Given the description of an element on the screen output the (x, y) to click on. 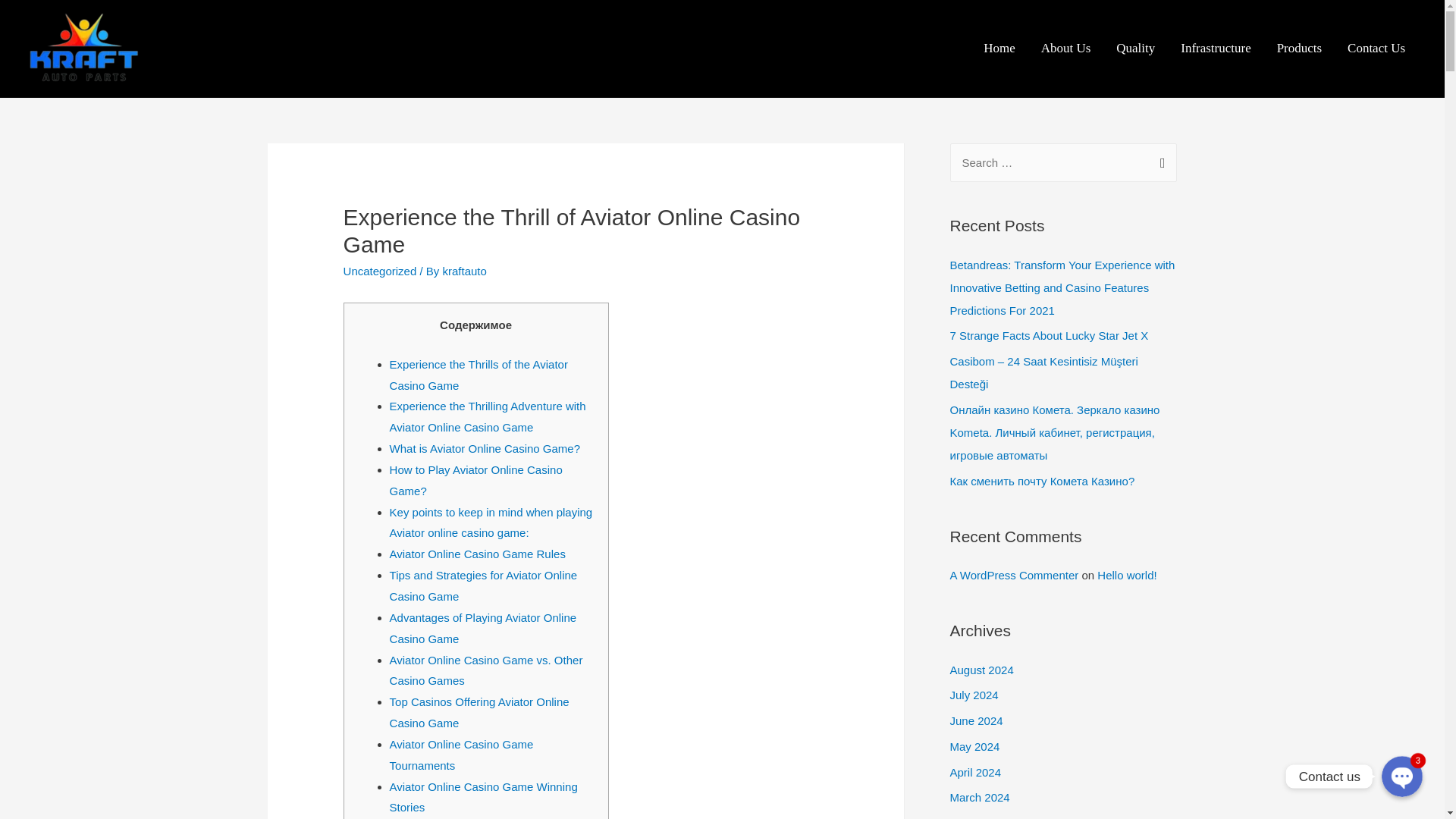
Aviator Online Casino Game Tournaments (462, 754)
Search (1158, 158)
About Us (1065, 48)
Tips and Strategies for Aviator Online Casino Game (484, 585)
Products (1299, 48)
Experience the Thrills of the Aviator Casino Game (478, 374)
7 Strange Facts About Lucky Star Jet X (1048, 335)
kraftauto (464, 270)
A WordPress Commenter (1013, 574)
Quality (1135, 48)
